Given the description of an element on the screen output the (x, y) to click on. 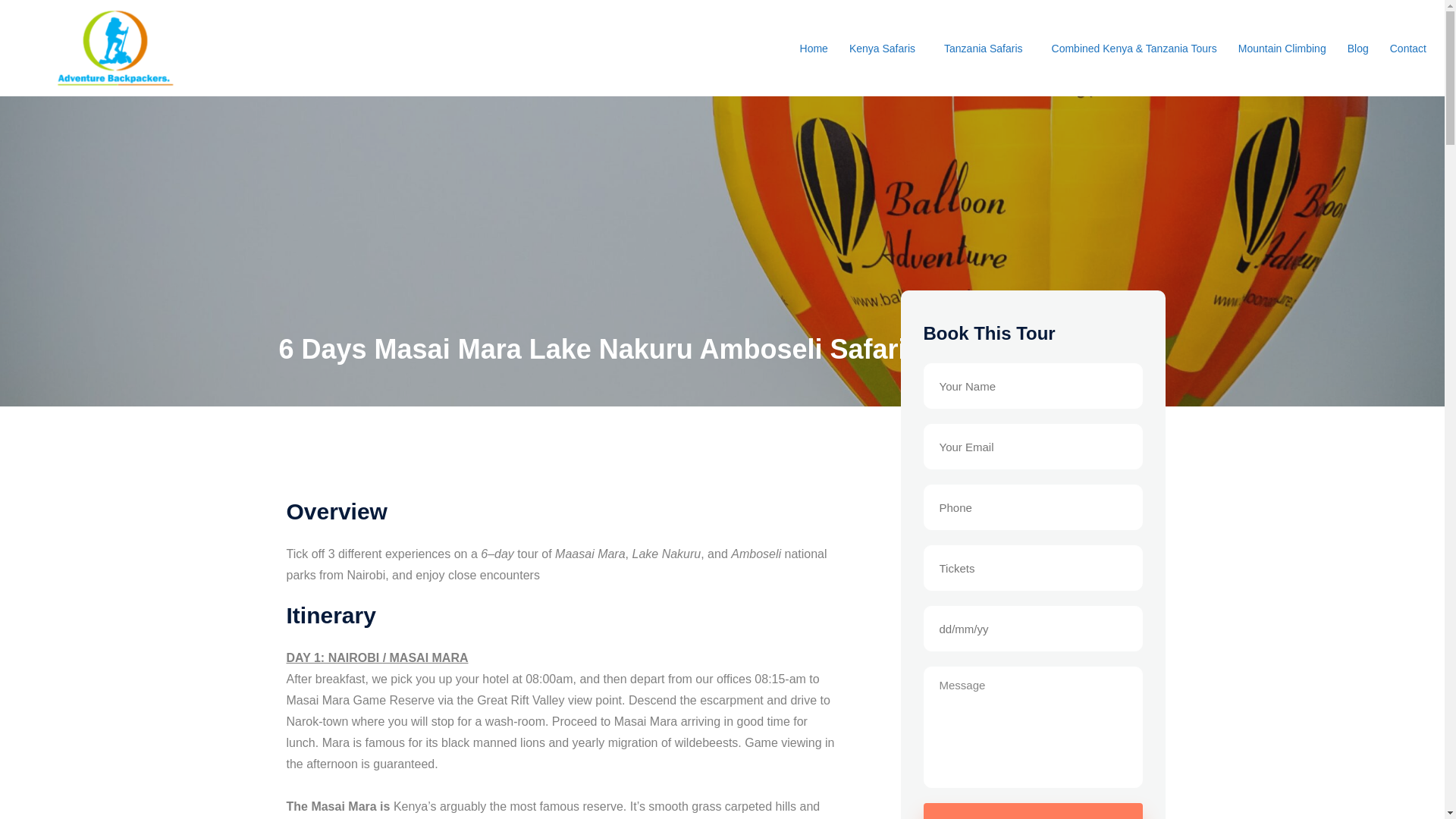
Book Now (1032, 811)
Blog (1357, 48)
Tanzania Safaris (987, 48)
Mountain Climbing (1281, 48)
Kenya Safaris (885, 48)
Home (813, 48)
Contact (1407, 48)
